Given the description of an element on the screen output the (x, y) to click on. 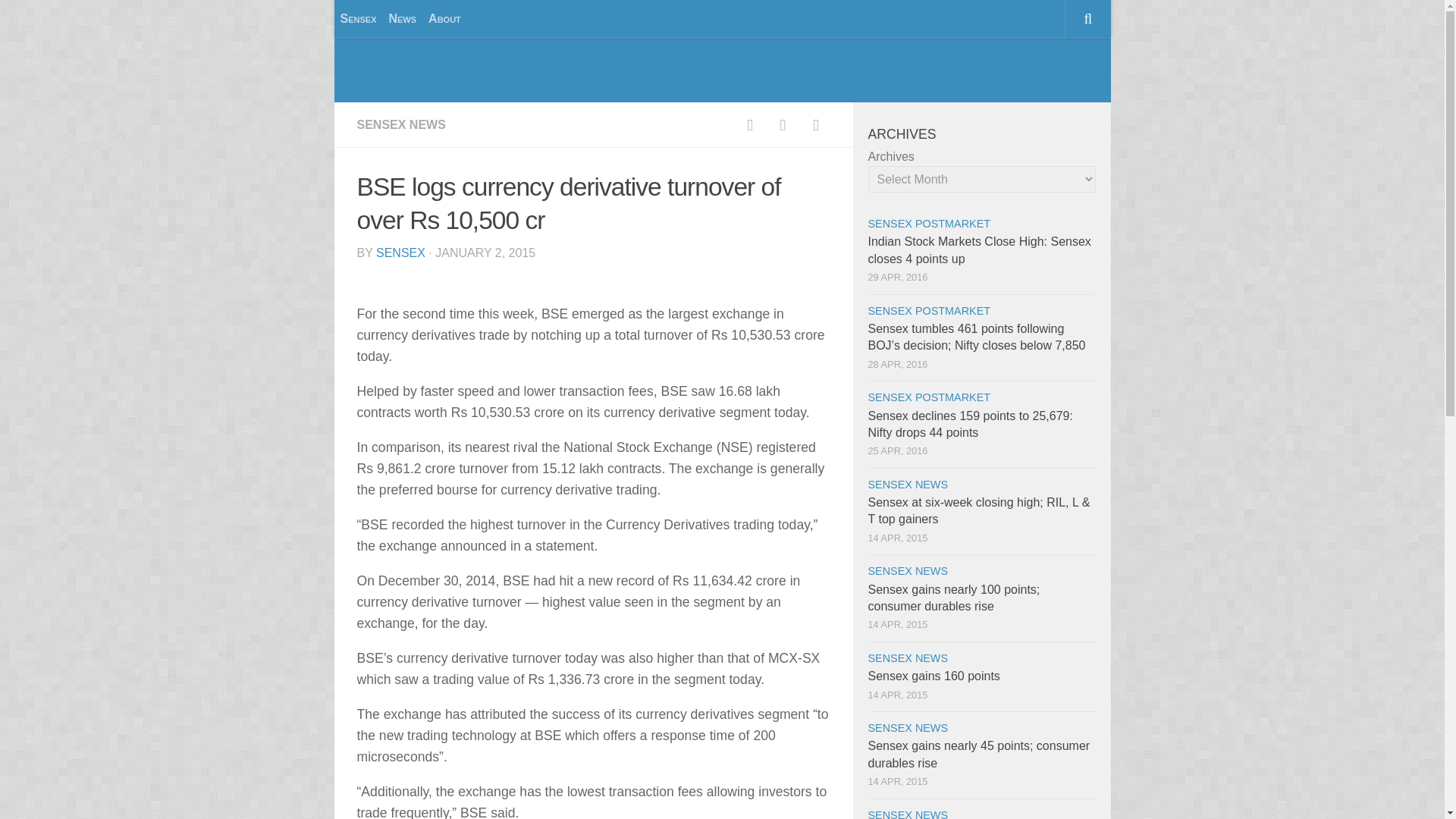
Indian Stock Markets Close High: Sensex closes 4 points up (978, 249)
Sensex declines 159 points to 25,679: Nifty drops 44 points (969, 423)
Sensex gains 160 points (932, 675)
SENSEX (400, 252)
SENSEX NEWS (907, 727)
Sensex gains 160 points (932, 675)
SENSEX NEWS (400, 124)
Sensex gains nearly 45 points; consumer durables rise (978, 754)
SENSEX NEWS (907, 657)
Posts by Sensex (400, 252)
Sensex (357, 18)
SENSEX POSTMARKET (928, 397)
SENSEX NEWS (907, 571)
Sensex gains nearly 100 points; consumer durables rise (953, 597)
SENSEX NEWS (907, 484)
